Given the description of an element on the screen output the (x, y) to click on. 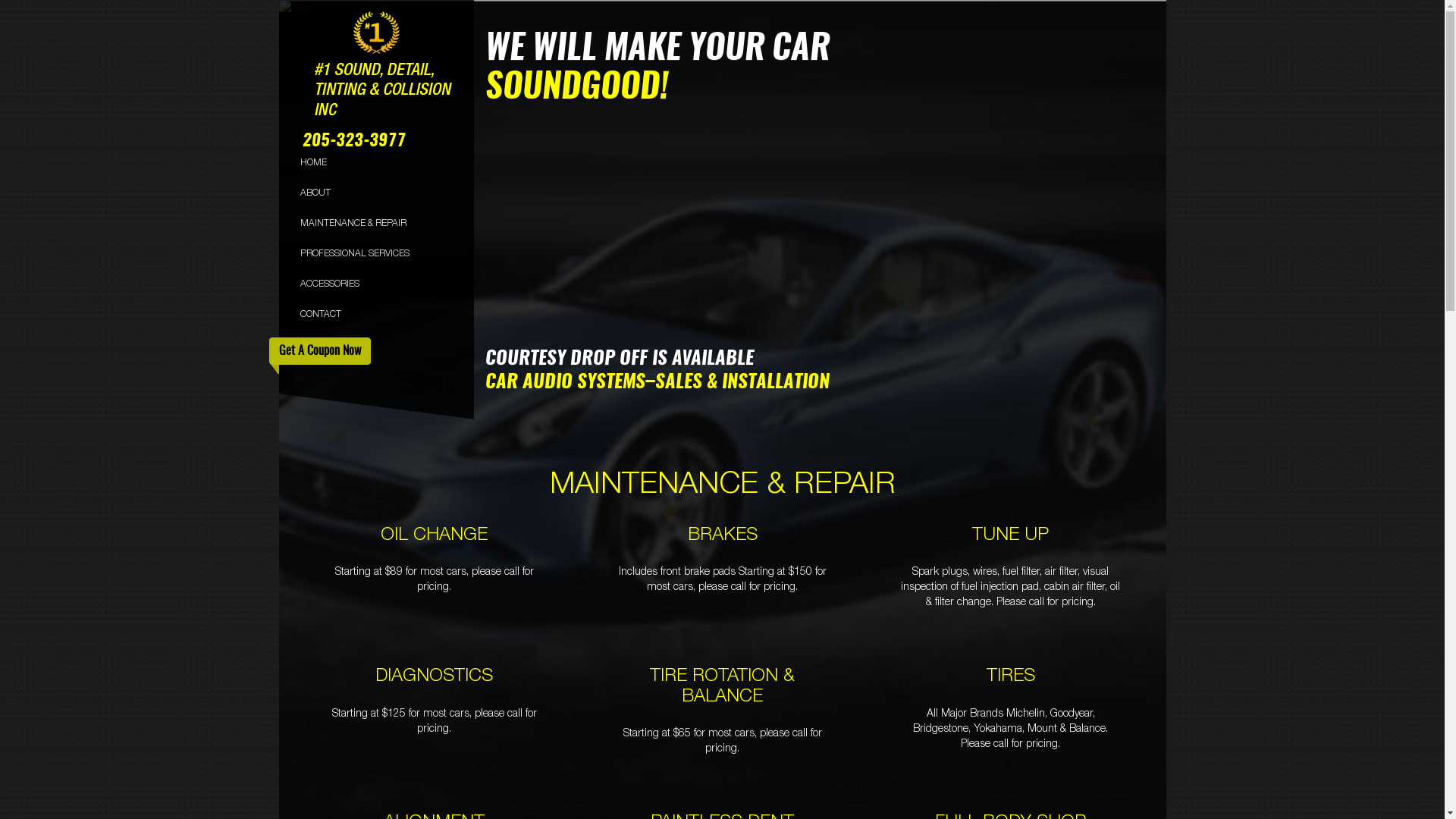
Get A Coupon Now Element type: text (319, 350)
MAINTENANCE & REPAIR Element type: text (353, 222)
CONTACT Element type: text (320, 313)
HOME Element type: text (313, 161)
ABOUT Element type: text (315, 192)
Get A Coupon Now Element type: text (319, 351)
ACCESSORIES Element type: text (329, 283)
PROFESSIONAL SERVICES Element type: text (354, 252)
